Given the description of an element on the screen output the (x, y) to click on. 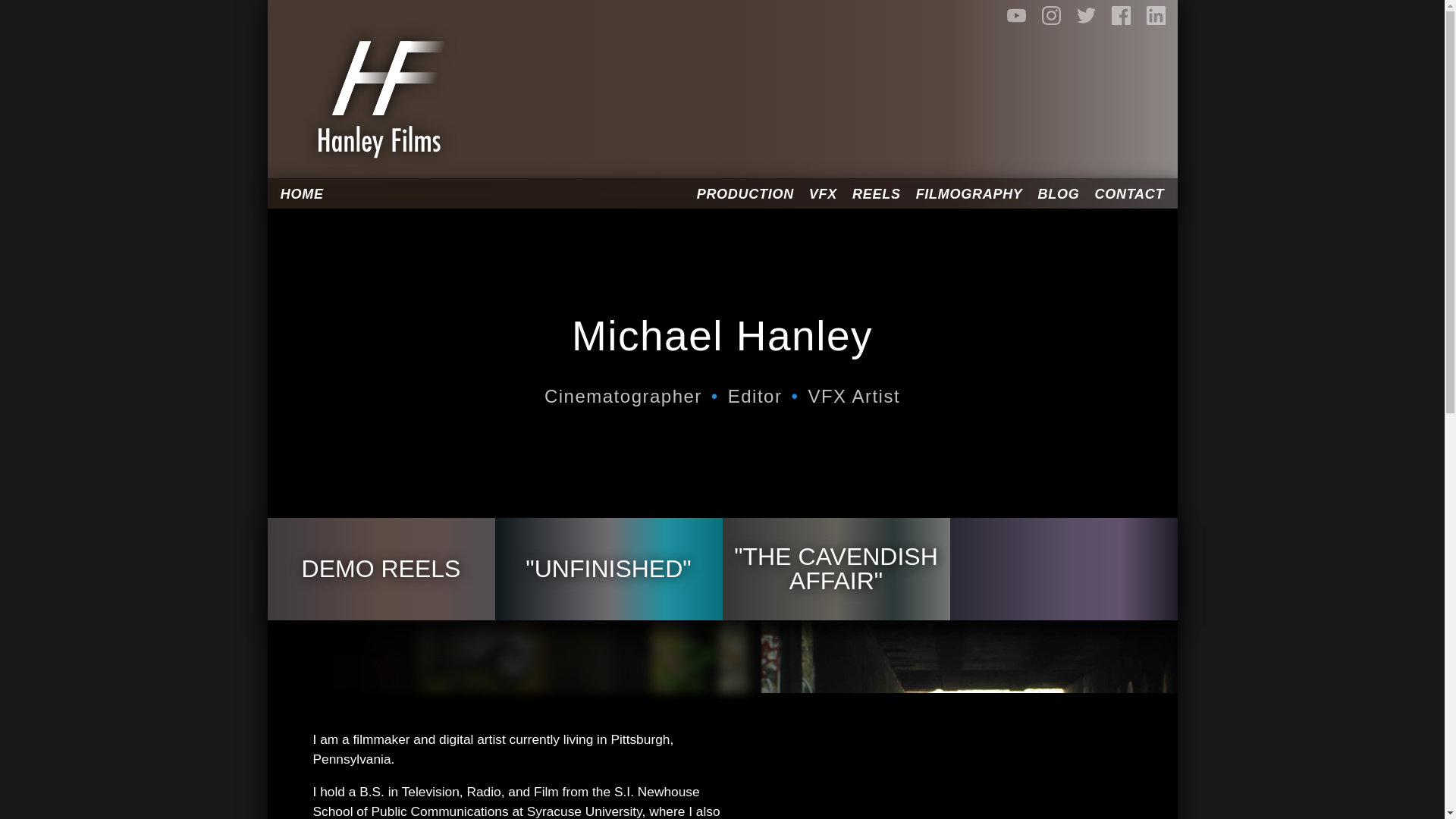
DEMO REELS (380, 568)
BLOG (1058, 194)
HOME (306, 194)
CONTACT (1124, 194)
REELS (876, 194)
"THE CAVENDISH AFFAIR" (835, 568)
"UNFINISHED" (608, 568)
PRODUCTION (745, 194)
FILMOGRAPHY (969, 194)
VFX (823, 194)
